Given the description of an element on the screen output the (x, y) to click on. 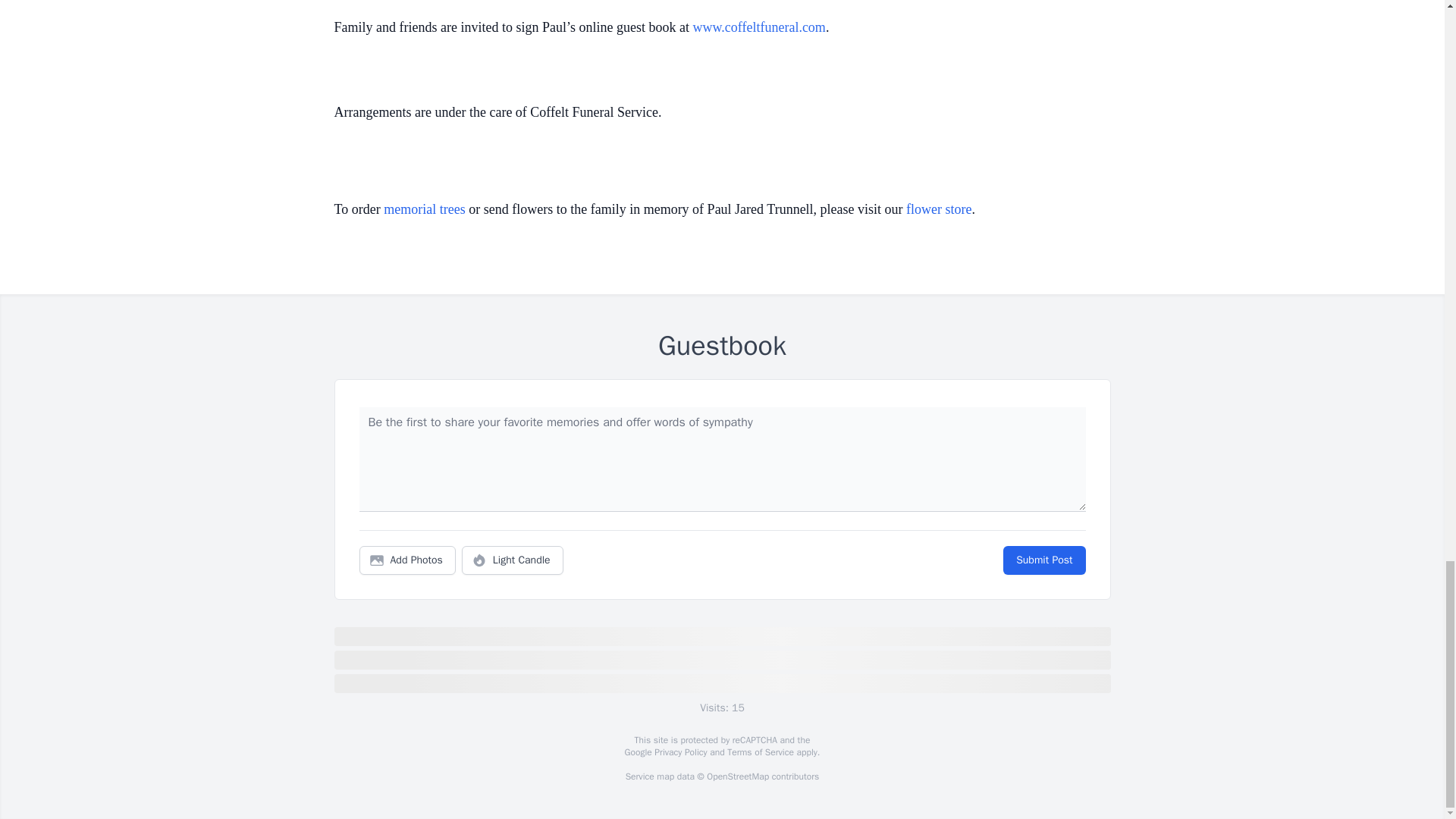
Terms of Service (759, 752)
OpenStreetMap (737, 776)
Light Candle (512, 560)
Submit Post (1043, 560)
Add Photos (407, 560)
www.coffeltfuneral.com (759, 27)
memorial trees (424, 209)
Privacy Policy (679, 752)
flower store (938, 209)
